Given the description of an element on the screen output the (x, y) to click on. 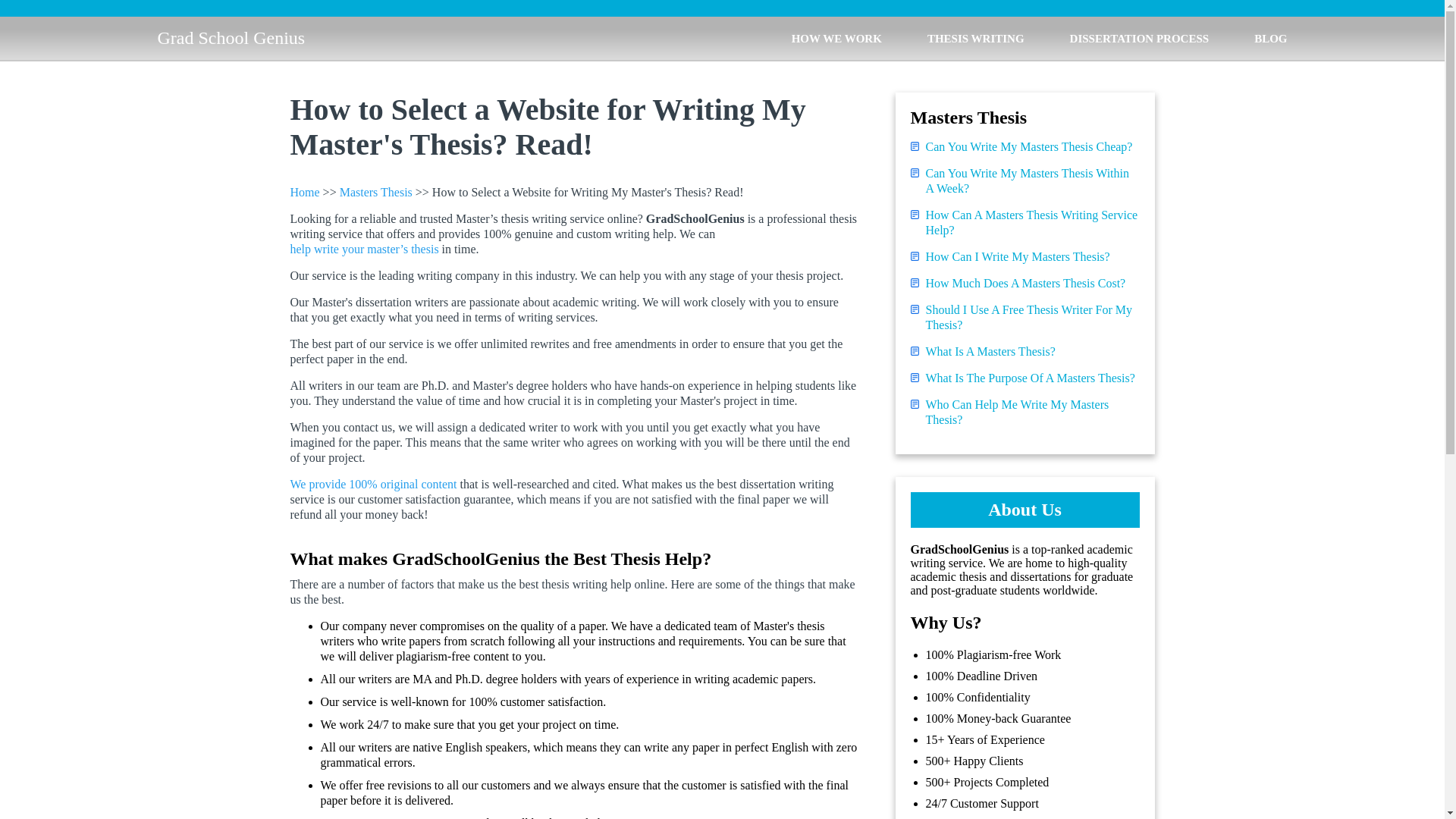
Who Can Help Me Write My Masters Thesis? (1031, 412)
Grad School Genius (231, 37)
Should I Use A Free Thesis Writer For My Thesis? (1031, 317)
THESIS WRITING (976, 38)
How Can A Masters Thesis Writing Service Help? (1031, 223)
HOW WE WORK (837, 38)
BLOG (1270, 38)
What Is The Purpose Of A Masters Thesis? (1029, 378)
How Much Does A Masters Thesis Cost? (1024, 283)
Can You Write My Masters Thesis Cheap? (1028, 146)
